Given the description of an element on the screen output the (x, y) to click on. 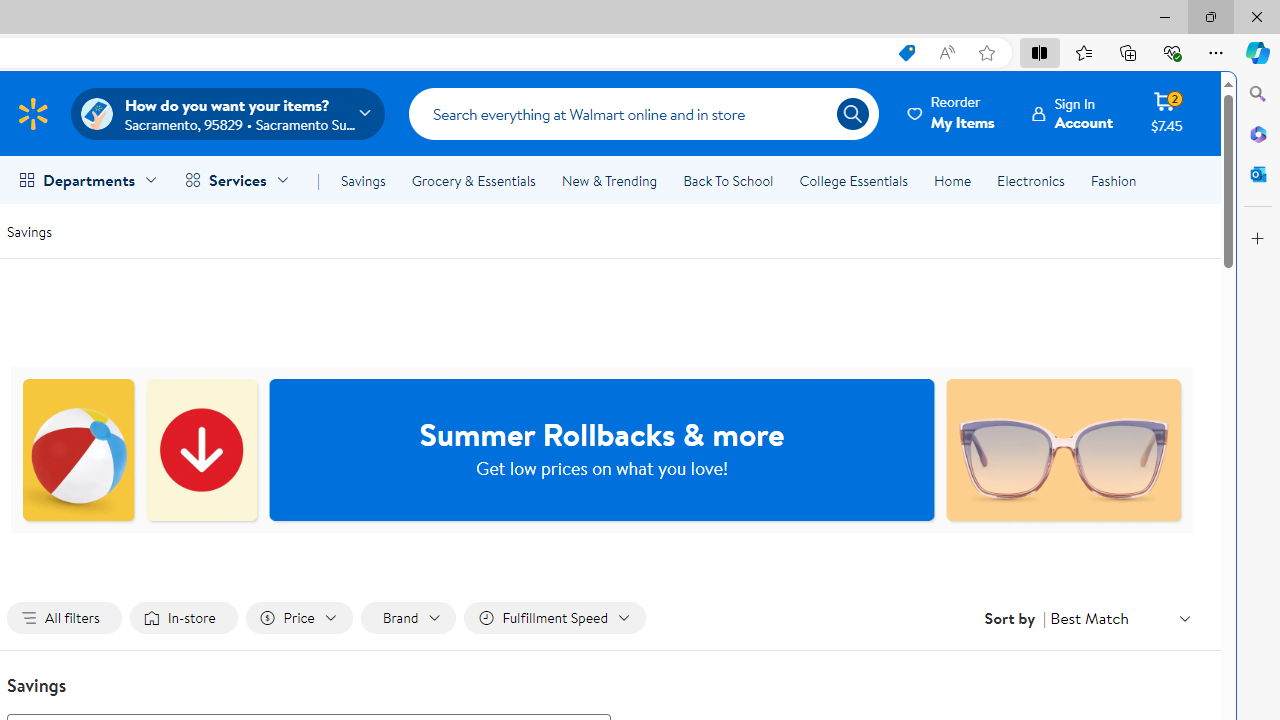
Filter by In-store (183, 618)
Summer Rollbacks & more Get low prices on what you love! (601, 449)
Microsoft 365 (1258, 133)
College Essentials (852, 180)
Walmart Homepage (32, 113)
Browser essentials (1171, 52)
Collections (1128, 52)
Cart contains 2 items Total Amount $7.45 (1166, 113)
ReorderMy Items (952, 113)
Sort by Best Match (1120, 618)
